Given the description of an element on the screen output the (x, y) to click on. 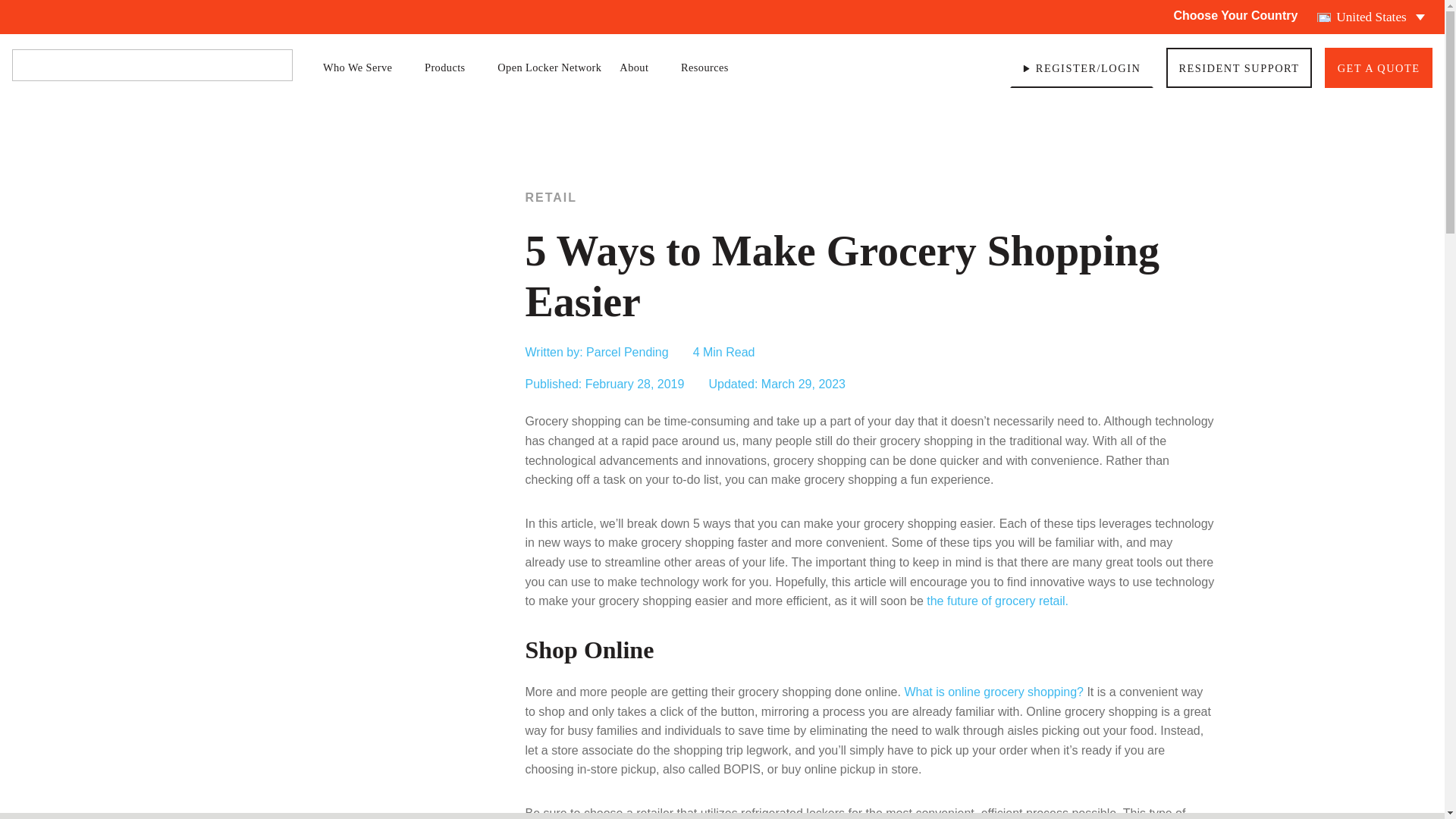
About (641, 67)
Products (452, 67)
Open Locker Network (549, 67)
About (641, 67)
Resources (711, 67)
Who We Serve (364, 67)
Open Locker Network (549, 67)
United States (1370, 16)
Who We Serve (364, 67)
Products (452, 67)
